Given the description of an element on the screen output the (x, y) to click on. 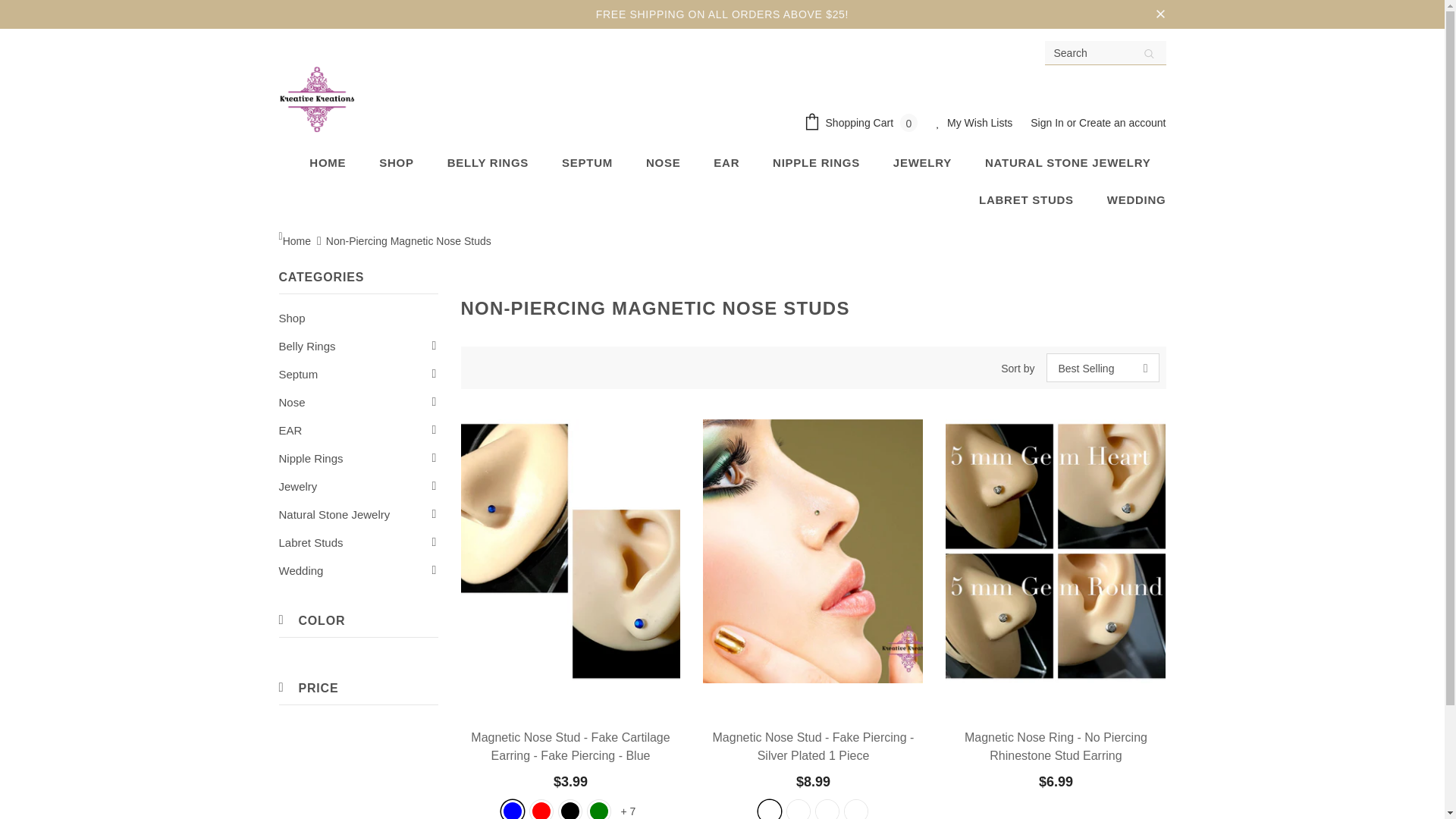
close (1160, 13)
BELLY RINGS (487, 162)
JEWELRY (922, 162)
My Wish Lists (974, 123)
NATURAL STONE JEWELRY (1068, 162)
Create an account (1122, 122)
Logo (317, 98)
SHOP (395, 162)
Shopping Cart 0 (863, 123)
Sign In (1047, 122)
